Given the description of an element on the screen output the (x, y) to click on. 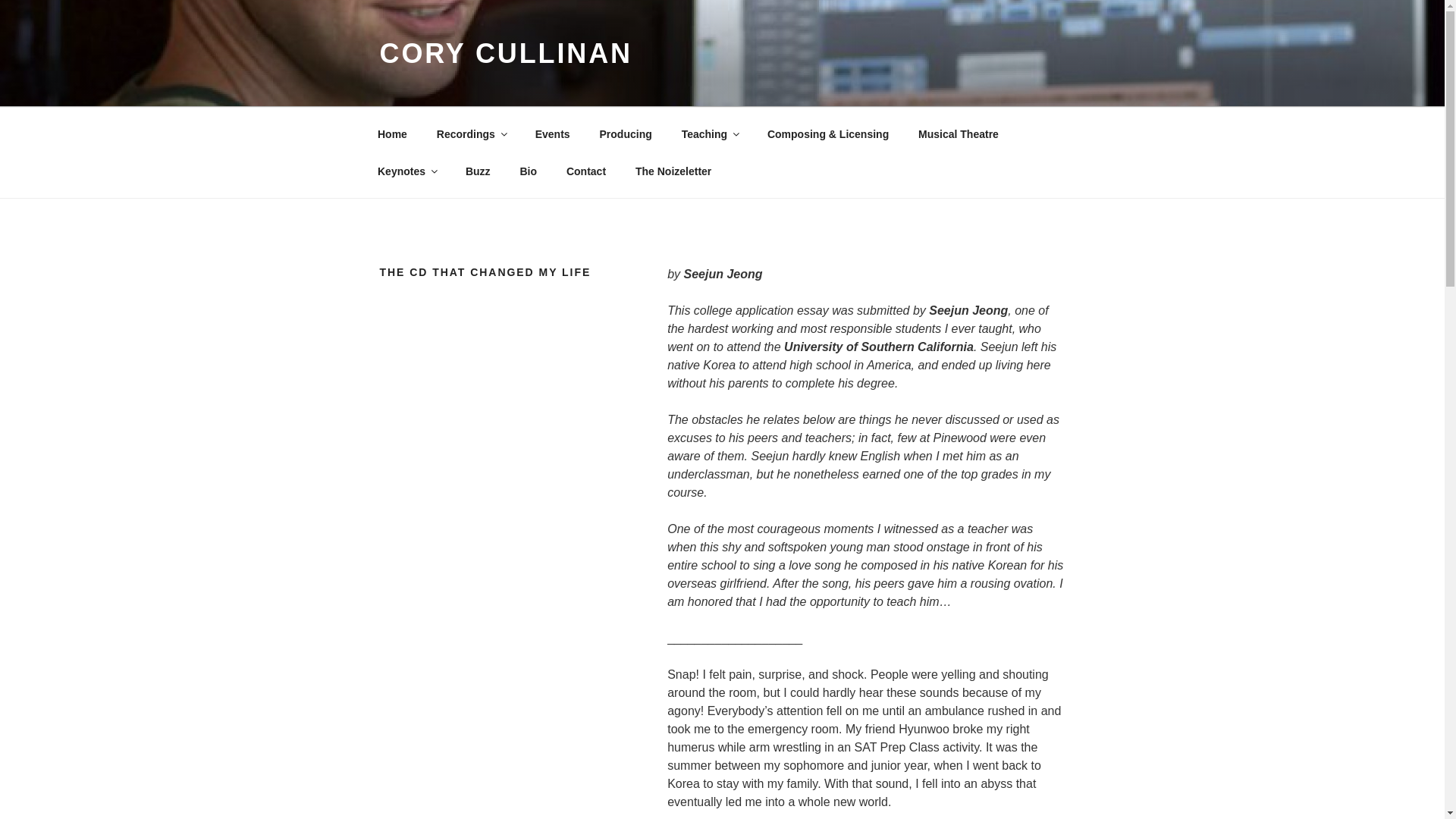
CORY CULLINAN (504, 52)
Home (392, 133)
Teaching (709, 133)
Events (552, 133)
Producing (625, 133)
Recordings (470, 133)
